Given the description of an element on the screen output the (x, y) to click on. 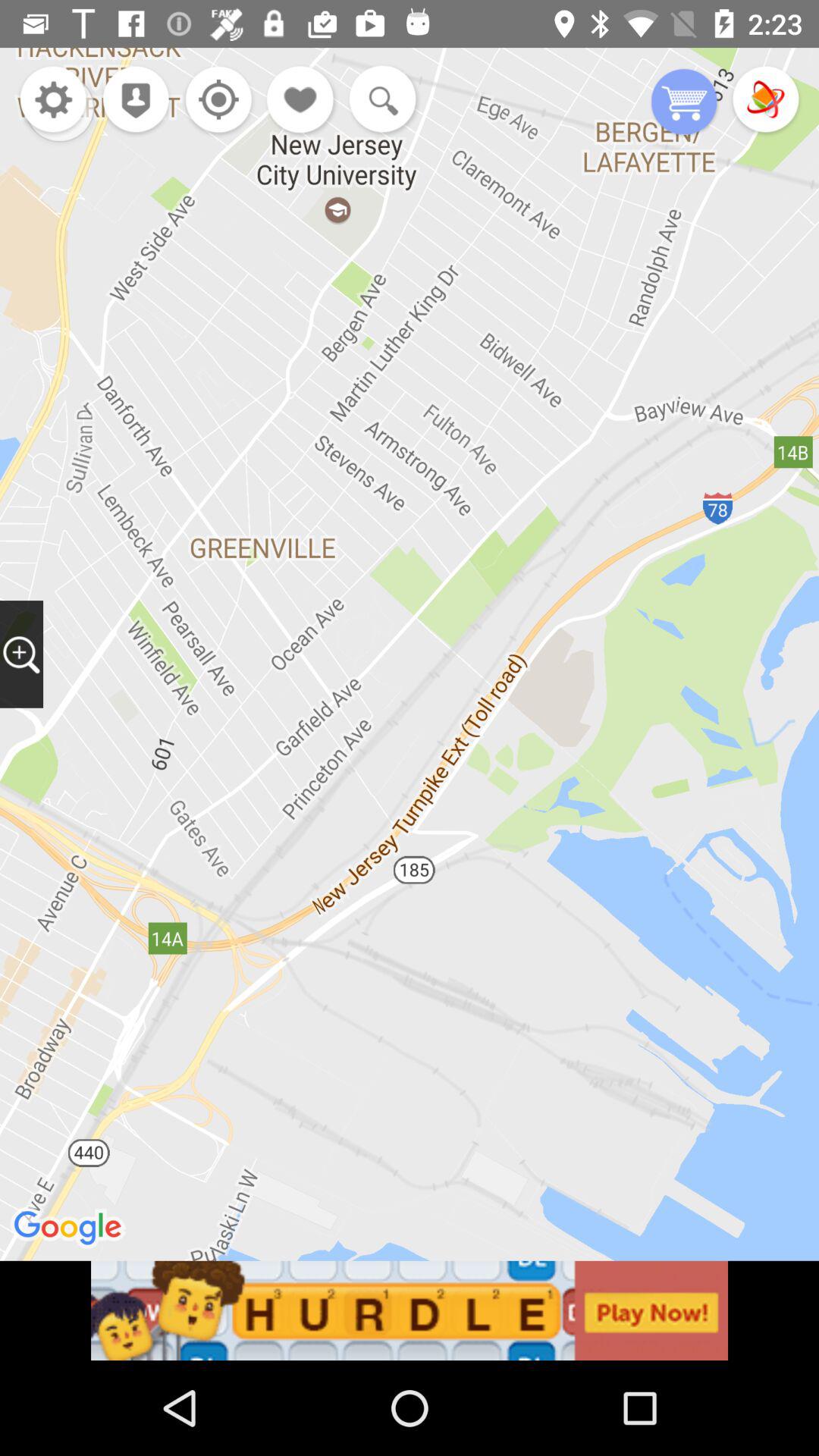
go to setting (52, 100)
